Given the description of an element on the screen output the (x, y) to click on. 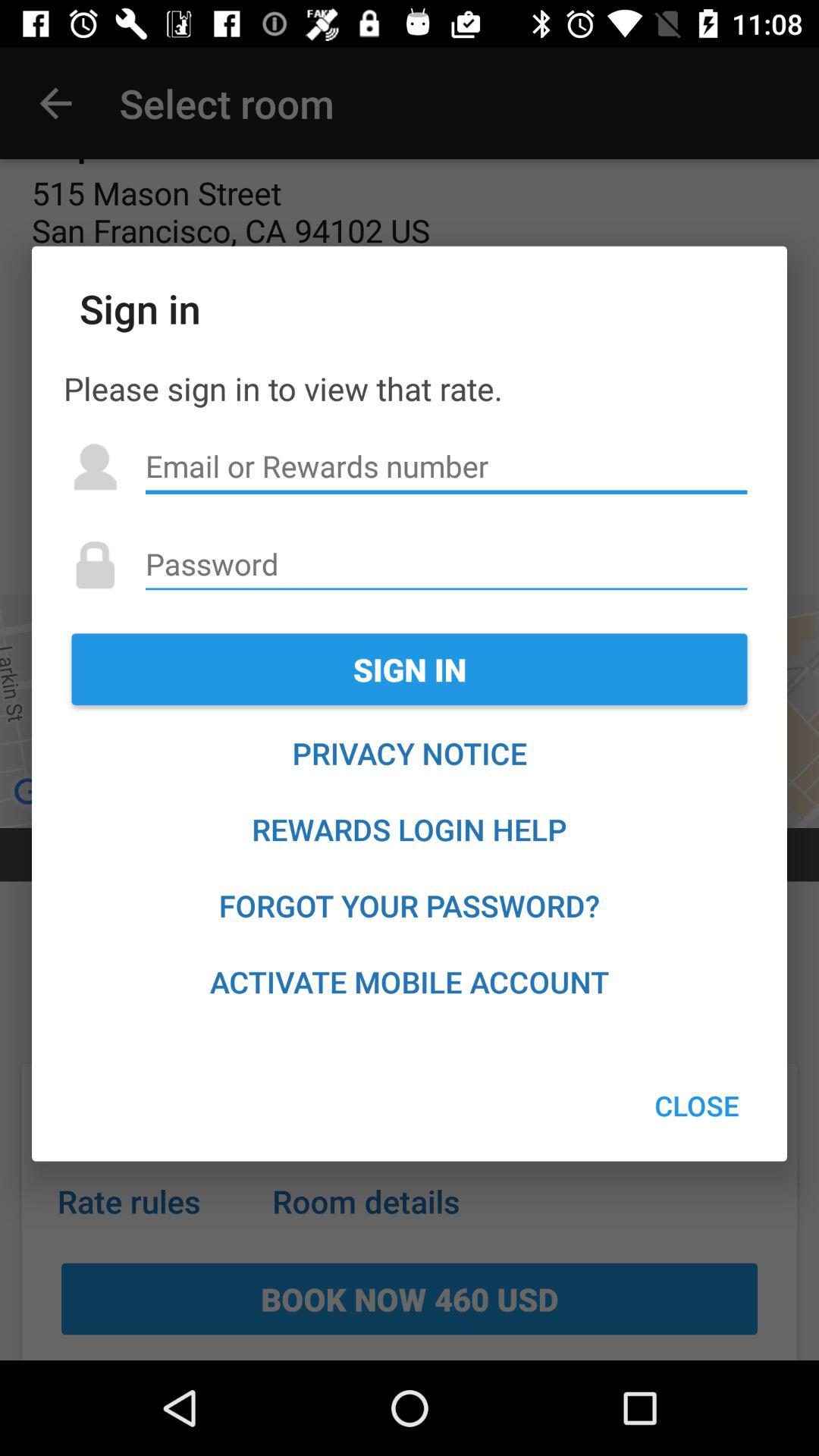
select item above the close item (409, 981)
